Given the description of an element on the screen output the (x, y) to click on. 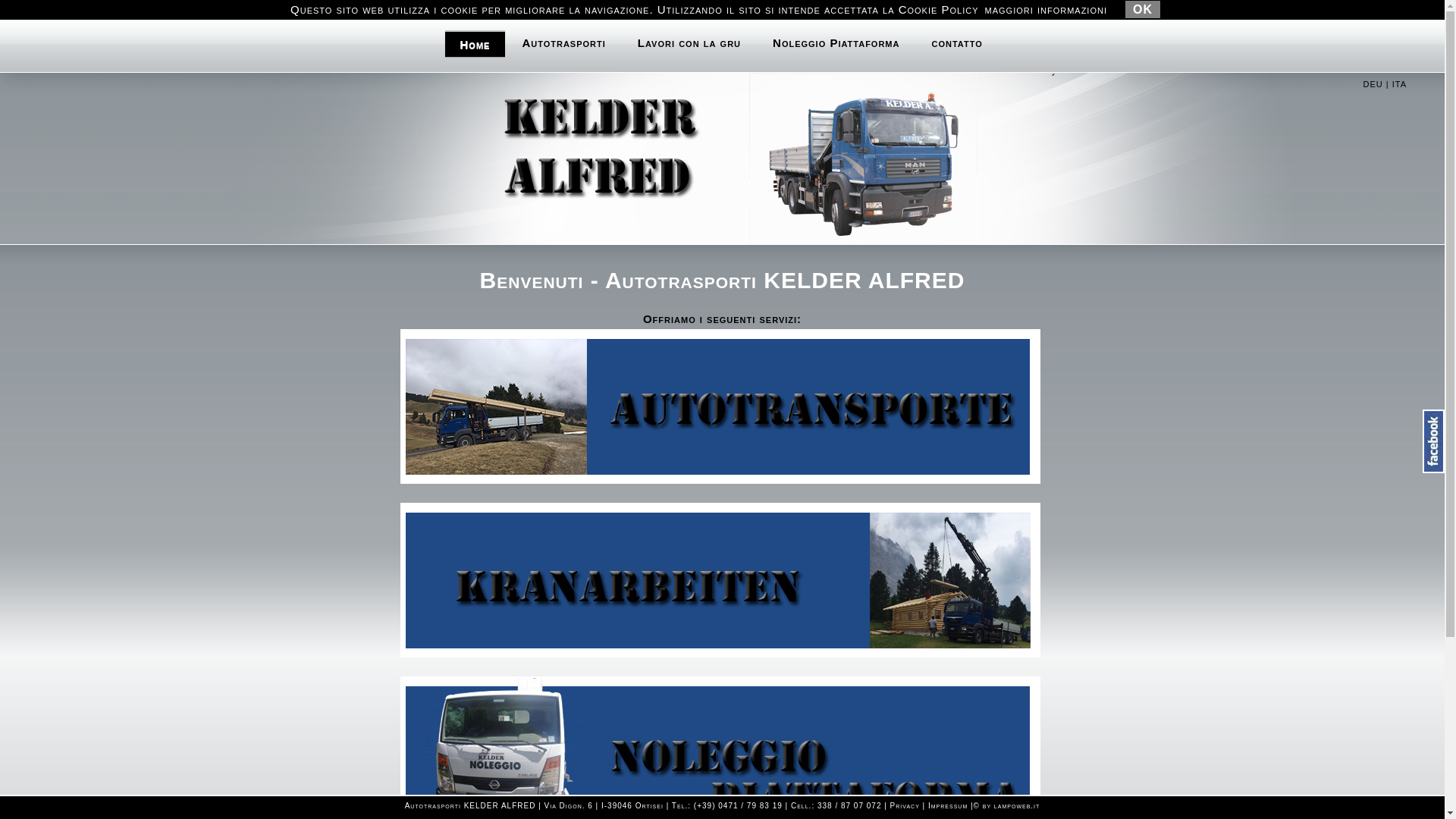
ITA Element type: text (1399, 83)
Info@Kelder.bz Element type: text (988, 7)
Privacy Element type: text (904, 805)
Autotrasporti Element type: text (563, 42)
maggiori informazioni Element type: text (1046, 9)
Lavori con la gru Element type: text (689, 42)
contatto Element type: text (956, 42)
OK Element type: text (1142, 9)
Impressum Element type: text (947, 805)
Home Element type: text (474, 43)
Noleggio Piattaforma Element type: text (835, 42)
DEU Element type: text (1372, 83)
